Given the description of an element on the screen output the (x, y) to click on. 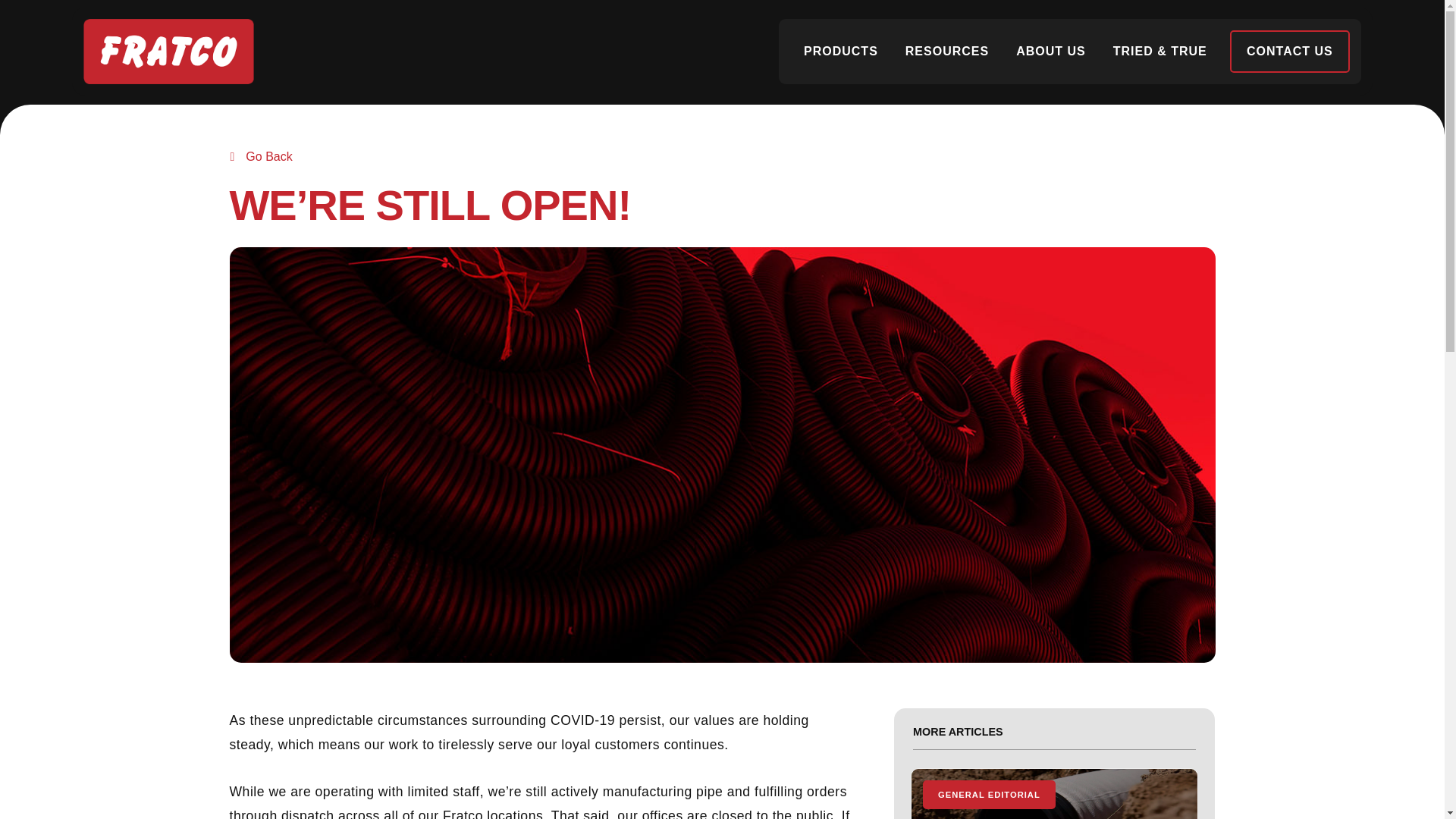
Fratco Logo (167, 51)
